Given the description of an element on the screen output the (x, y) to click on. 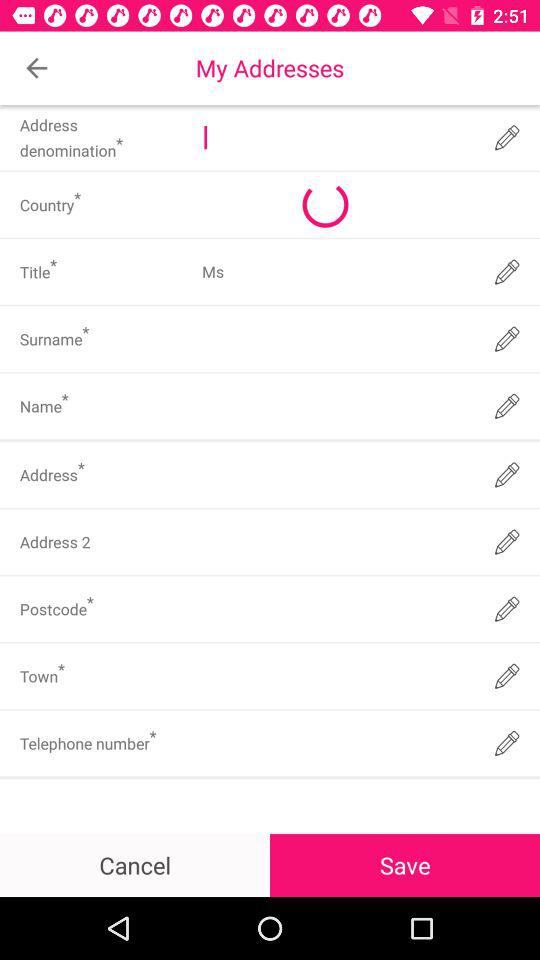
press icon above the address denomination* (36, 68)
